Given the description of an element on the screen output the (x, y) to click on. 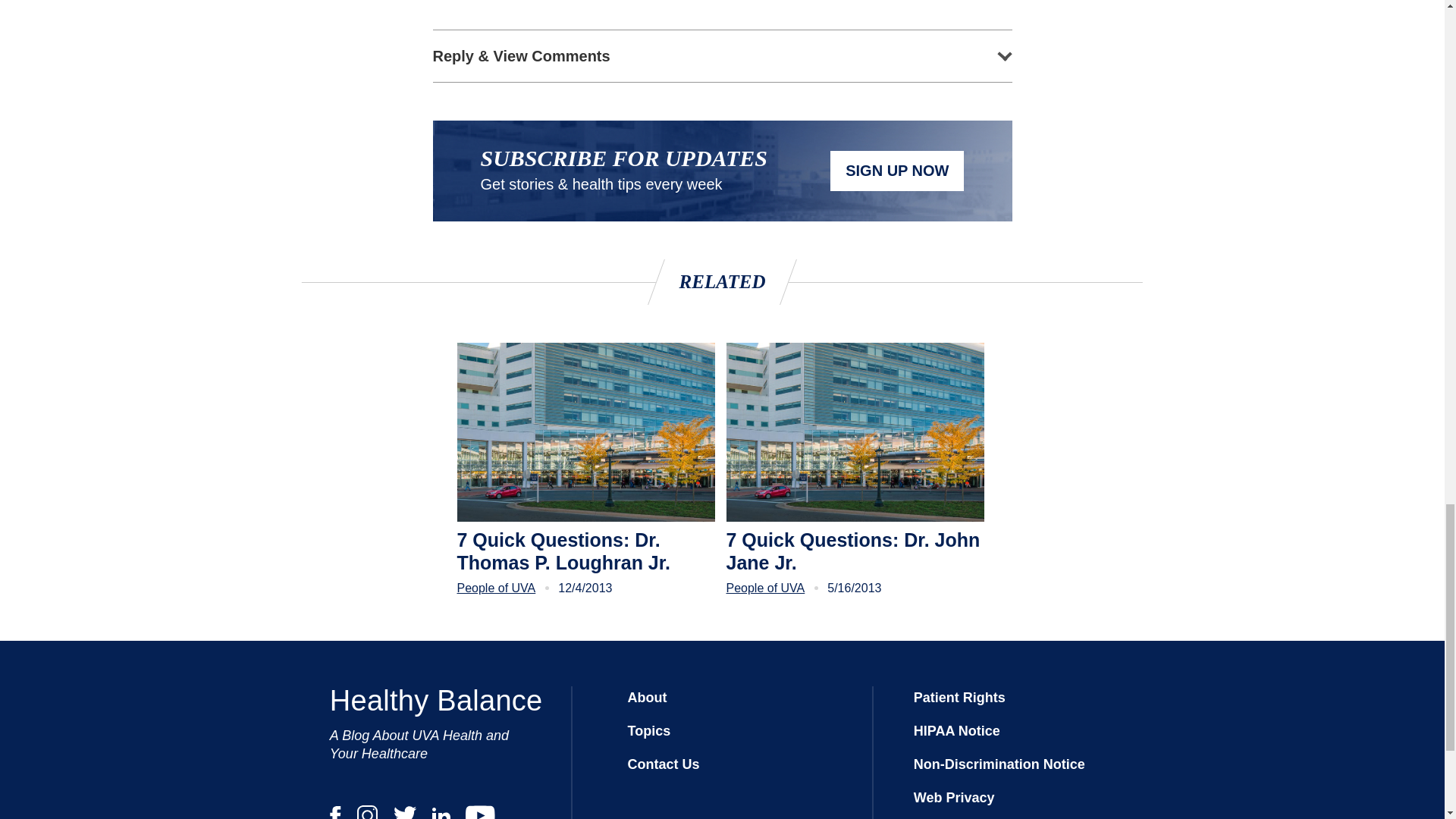
Contact Us (662, 764)
HIPAA Notice (957, 730)
Patient Rights (960, 697)
Non-Discrimination Notice (999, 764)
7 Quick Questions: Dr. Thomas P. Loughran Jr. (585, 551)
Topics (648, 730)
SIGN UP NOW (896, 170)
7 Quick Questions: Dr. John Jane Jr. (855, 551)
About (646, 697)
Web Privacy (954, 797)
People of UVA (496, 587)
People of UVA (765, 587)
